Given the description of an element on the screen output the (x, y) to click on. 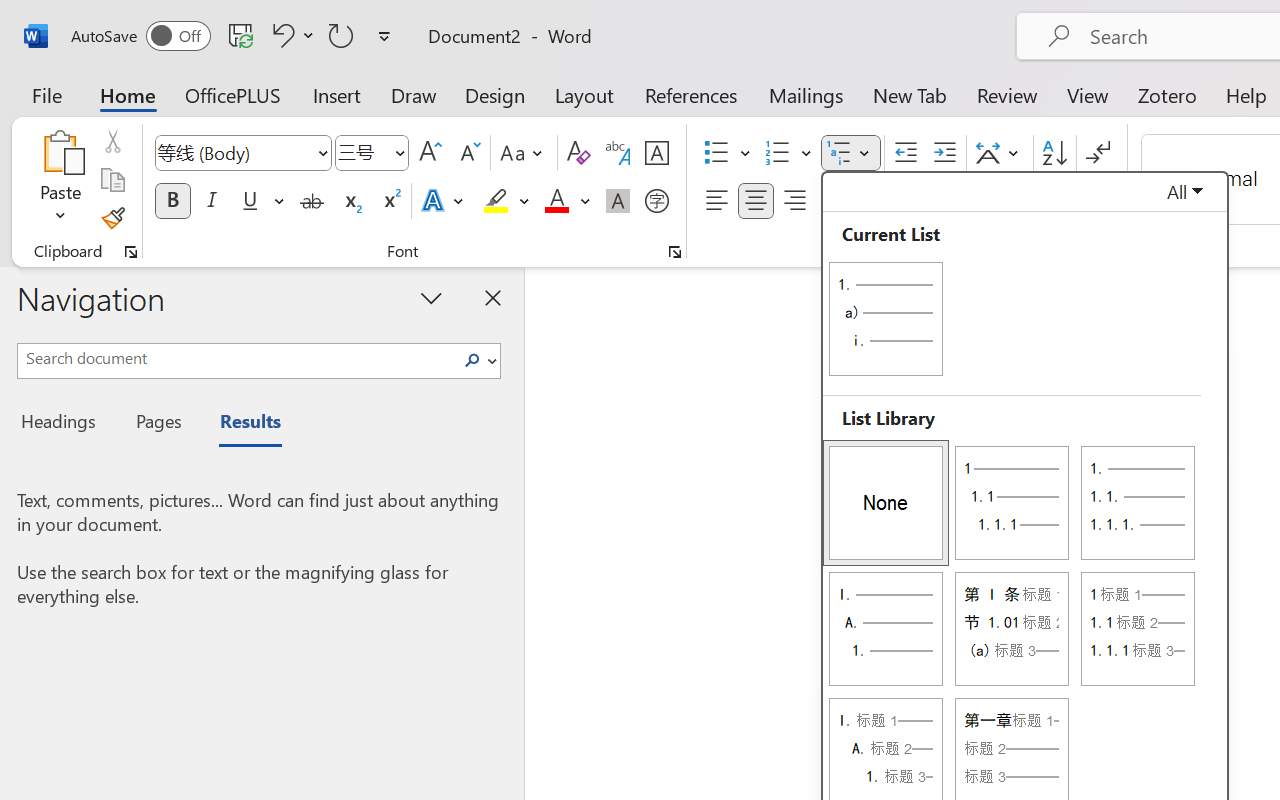
Extensions (Ctrl+Shift+X) (24, 278)
Selection (141, 18)
Refresh Explorer (264, 89)
Testing (24, 332)
Search (Ctrl+Shift+F) (24, 118)
Python (24, 385)
Explorer (Ctrl+Shift+E) (24, 65)
Close (Ctrl+F4) (648, 58)
Run and Debug (Ctrl+Shift+D) (24, 225)
del.py (604, 58)
Source Control (Ctrl+Shift+G) (24, 172)
Terminal (322, 18)
Explorer Section: windows_crawler (175, 89)
